Given the description of an element on the screen output the (x, y) to click on. 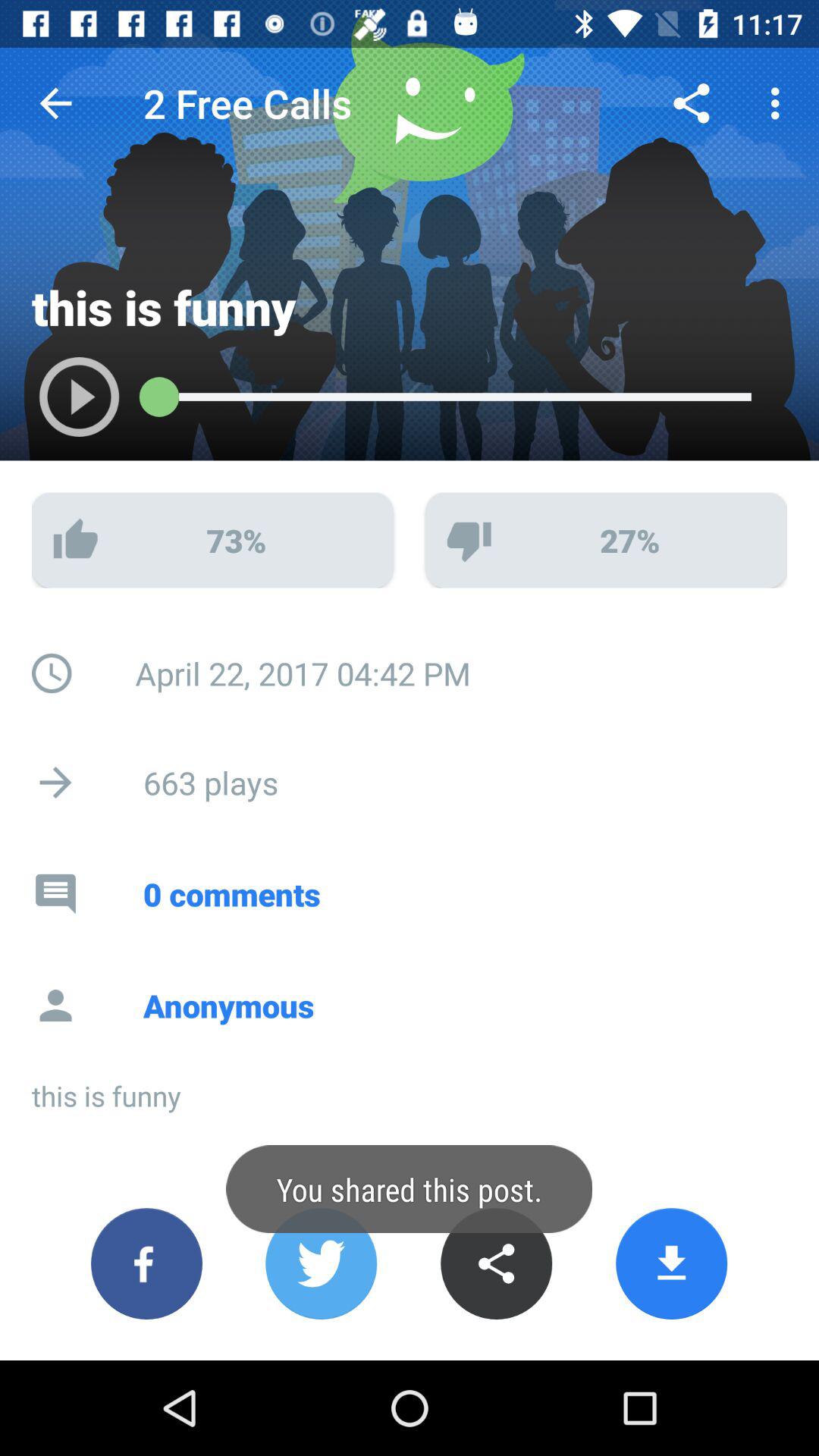
download the ringtone (671, 1263)
